Given the description of an element on the screen output the (x, y) to click on. 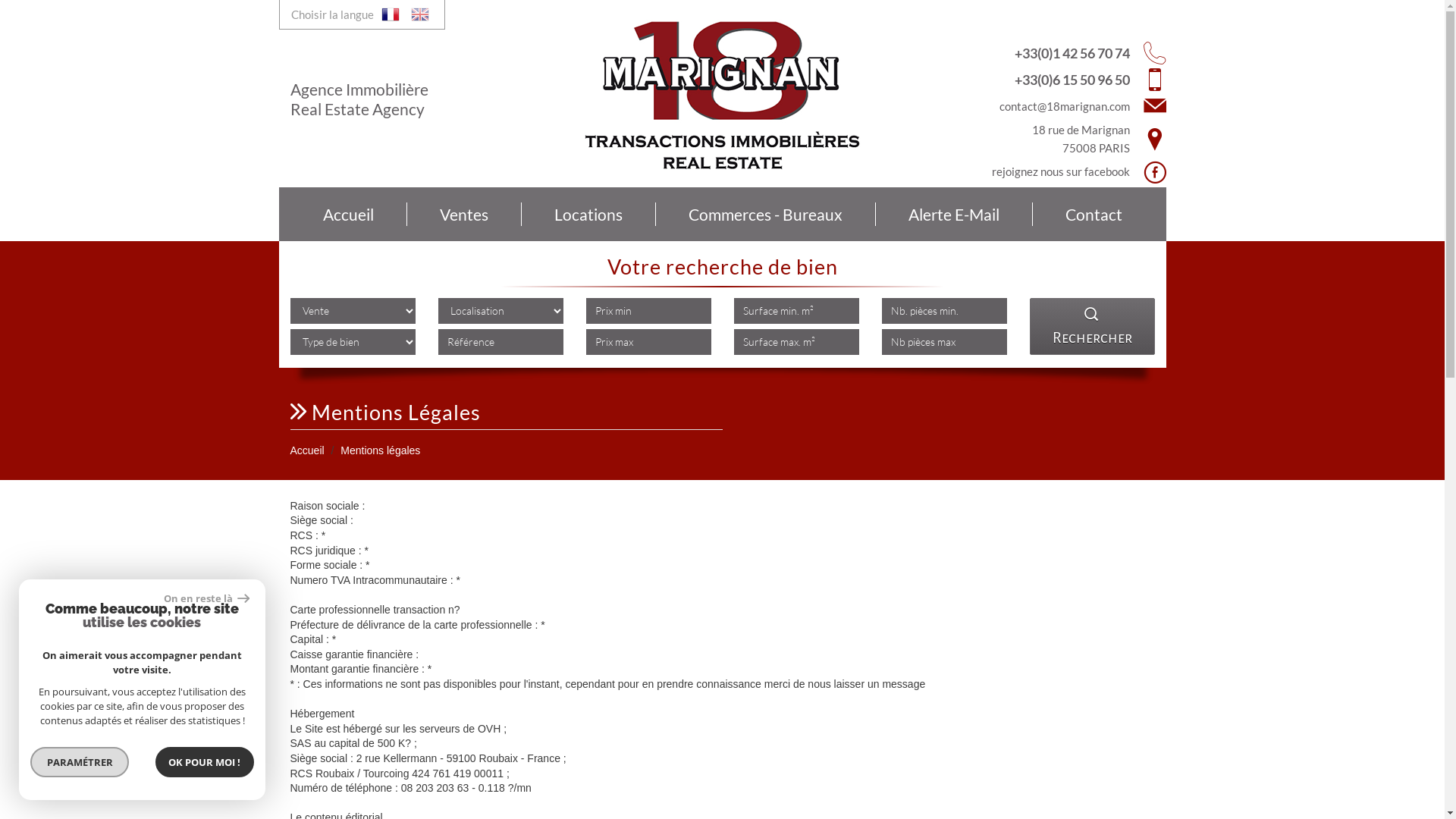
Locations Element type: text (588, 214)
contact@18marignan.com Element type: text (1064, 105)
18 rue de Marignan
75008 PARIS Element type: text (1055, 138)
Contact Element type: text (1093, 214)
Accueil Element type: text (306, 450)
Alerte E-Mail Element type: text (953, 214)
Accueil Element type: text (347, 214)
rejoignez nous sur facebook Element type: text (1055, 171)
OK POUR MOI ! Element type: text (204, 761)
Rechercher Element type: text (1091, 326)
  Element type: text (420, 14)
Ventes Element type: text (463, 214)
Commerces - Bureaux Element type: text (765, 214)
